Given the description of an element on the screen output the (x, y) to click on. 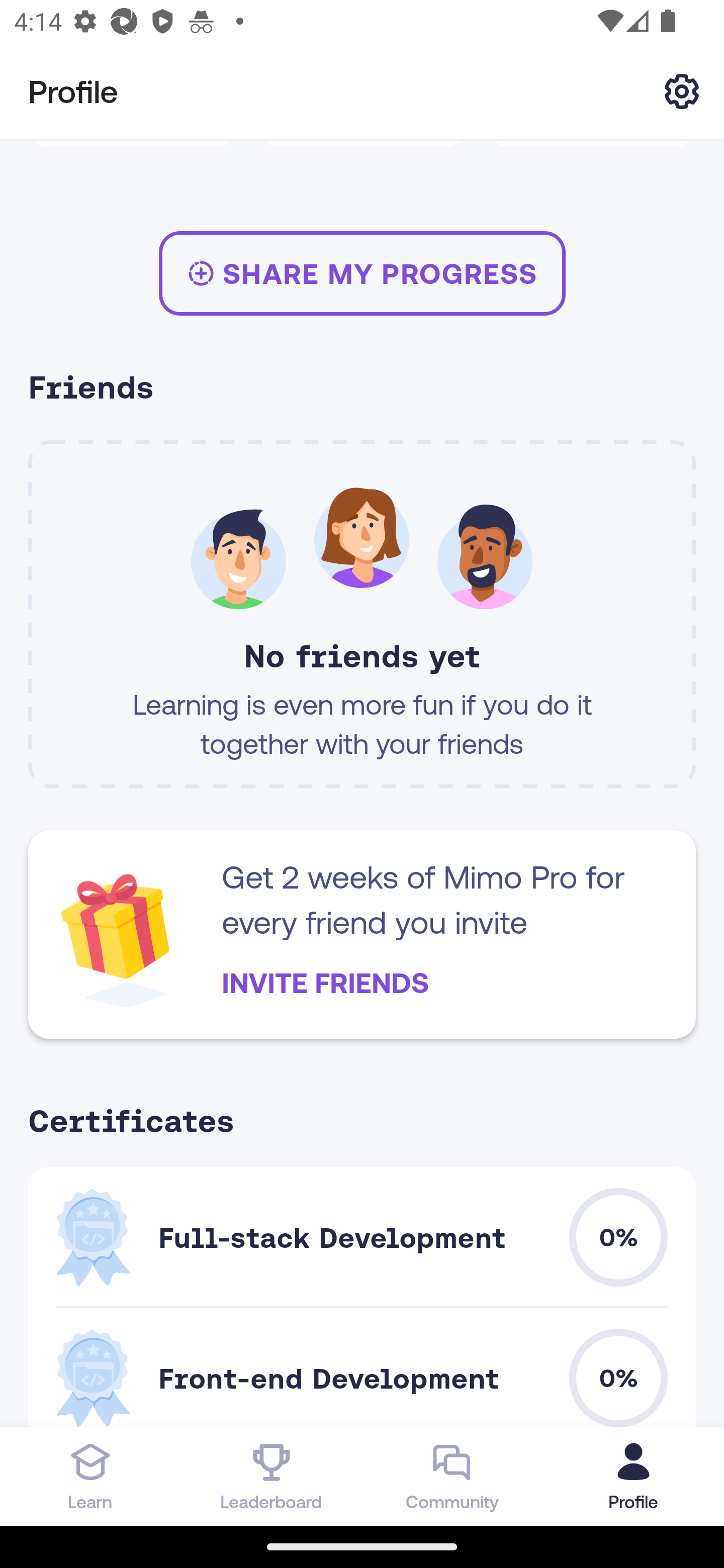
Settings (681, 90)
SHARE MY PROGRESS (361, 272)
Friends (362, 389)
INVITE FRIENDS (325, 982)
Full-stack Development 0.0 0% (361, 1236)
Front-end Development 0.0 0% (361, 1366)
Learn (90, 1475)
Leaderboard (271, 1475)
Community (452, 1475)
